Given the description of an element on the screen output the (x, y) to click on. 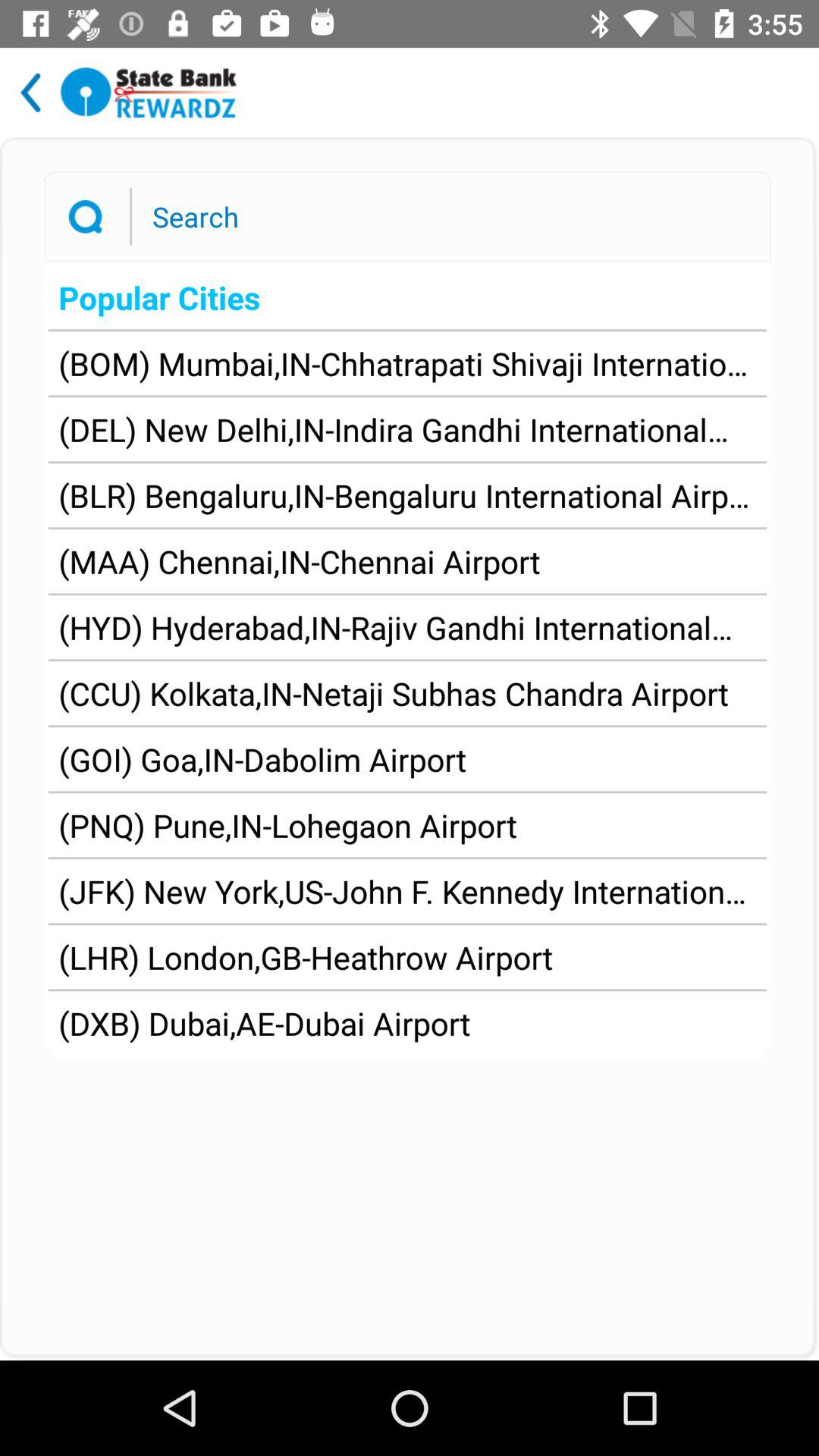
go back (30, 92)
